Given the description of an element on the screen output the (x, y) to click on. 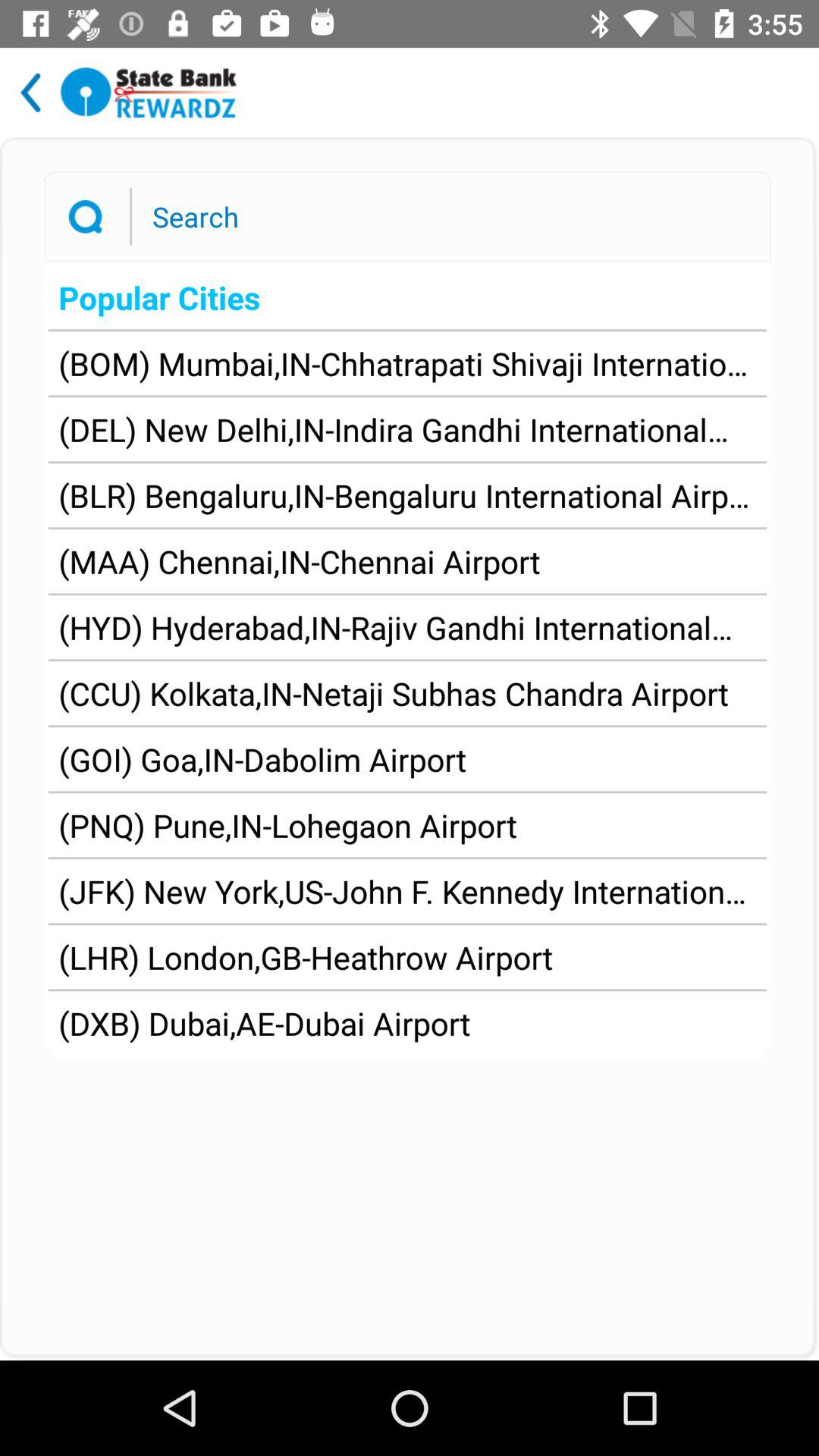
go back (30, 92)
